Given the description of an element on the screen output the (x, y) to click on. 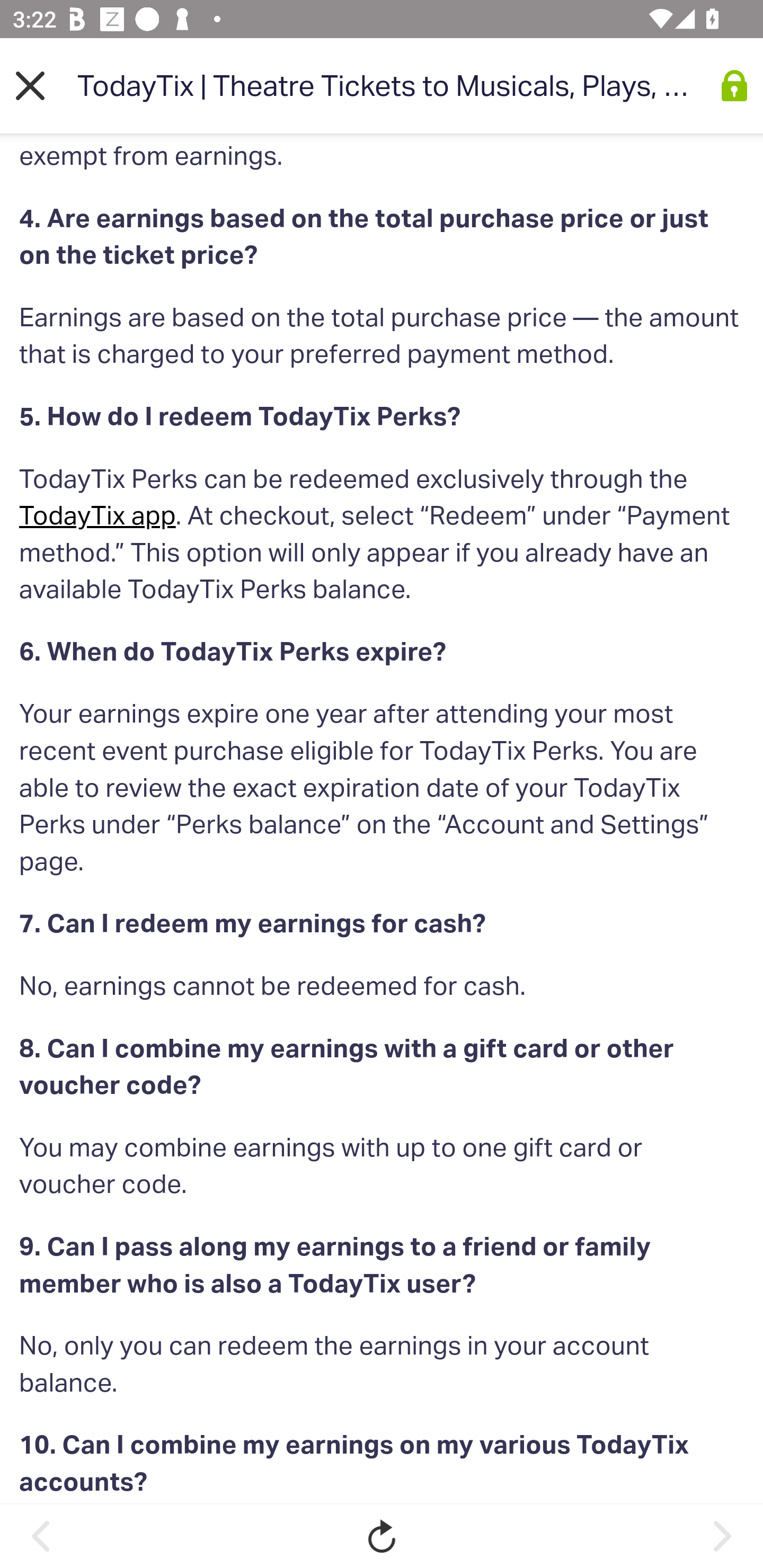
TodayTix app (97, 516)
